Given the description of an element on the screen output the (x, y) to click on. 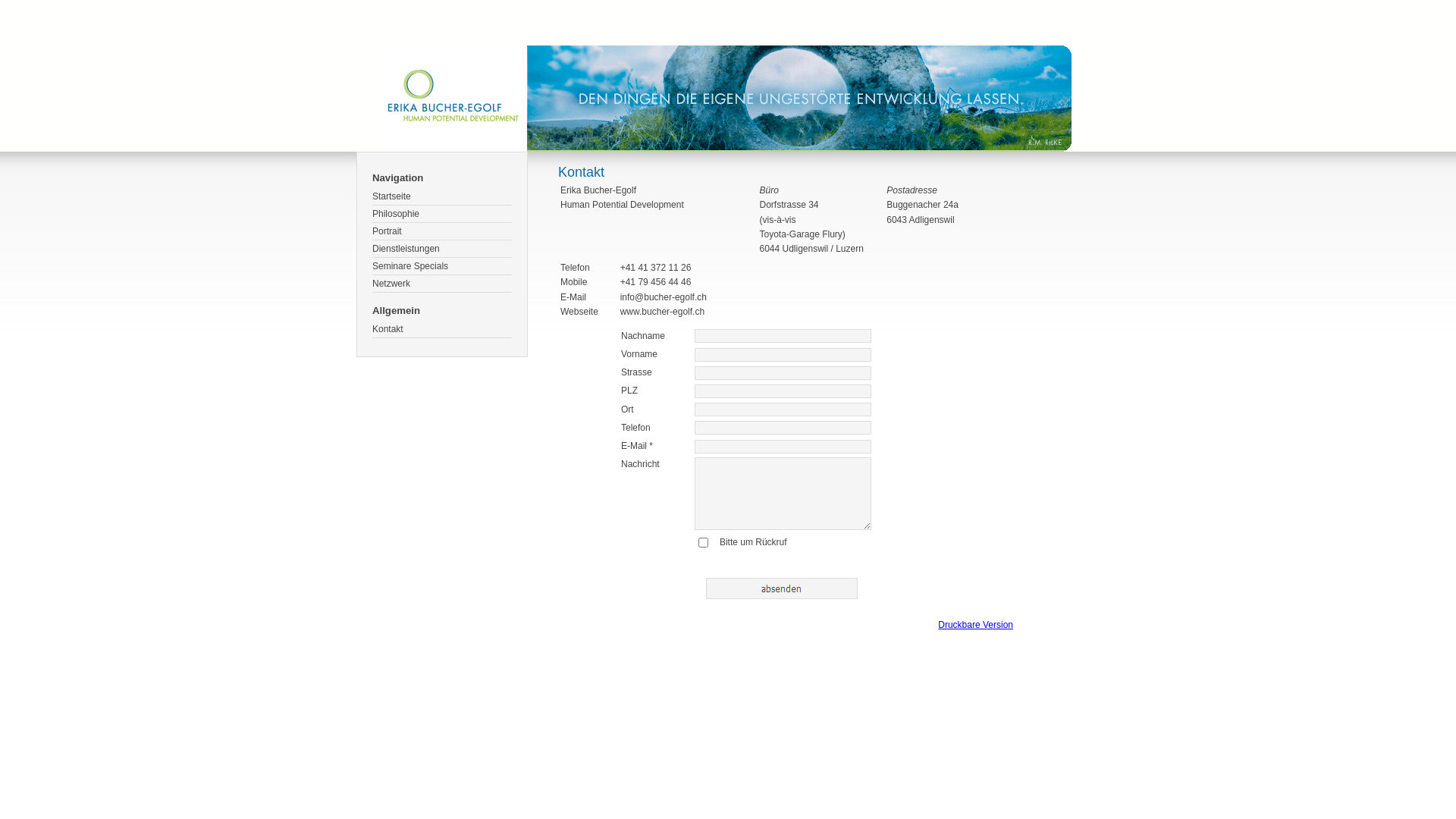
Seminare Specials Element type: text (441, 266)
Philosophie Element type: text (441, 213)
Druckbare Version Element type: text (975, 624)
Kontakt Element type: text (441, 329)
Portrait Element type: text (441, 231)
Startseite Element type: text (441, 196)
Dienstleistungen Element type: text (441, 248)
Netzwerk Element type: text (441, 283)
